Given the description of an element on the screen output the (x, y) to click on. 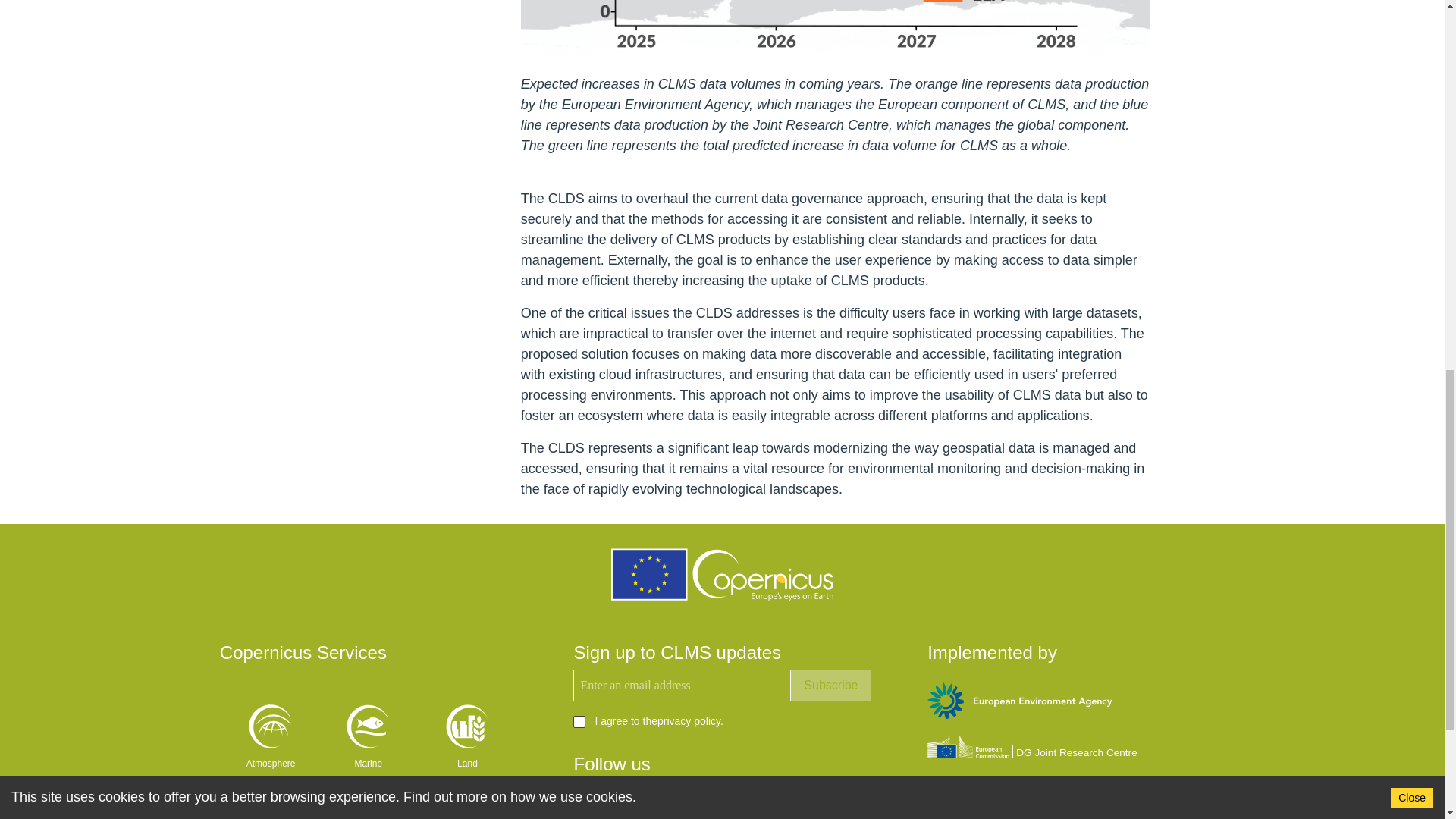
Emergency (466, 806)
Security (268, 806)
Joint Research Centre (1032, 749)
European Environment Agency (1019, 702)
Subscribe (830, 685)
Climate Change (368, 806)
privacy policy. (690, 720)
